Given the description of an element on the screen output the (x, y) to click on. 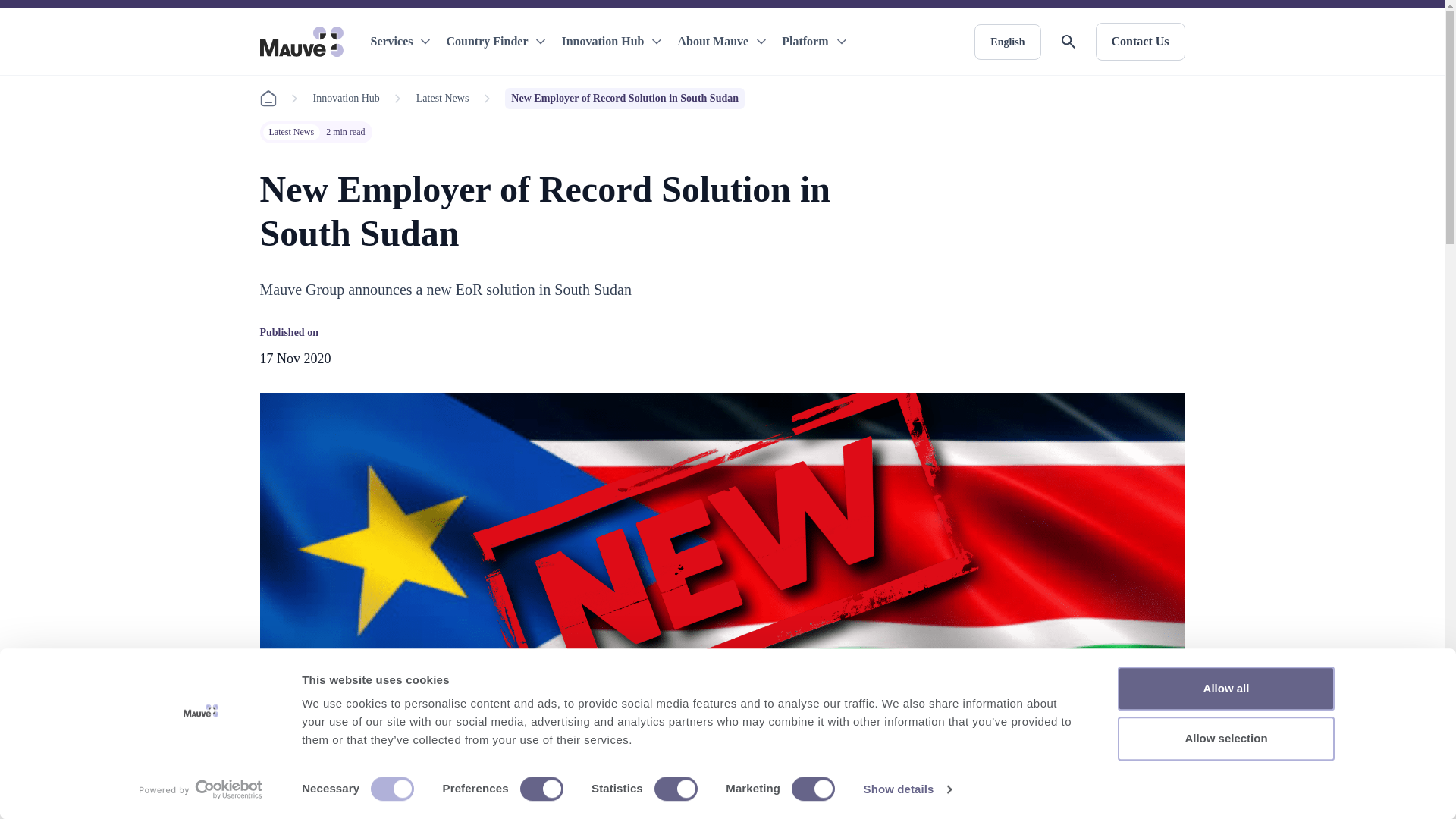
Show details (907, 789)
Tuesday 17 November 2020 at 09:19:07 GMT (294, 358)
